Given the description of an element on the screen output the (x, y) to click on. 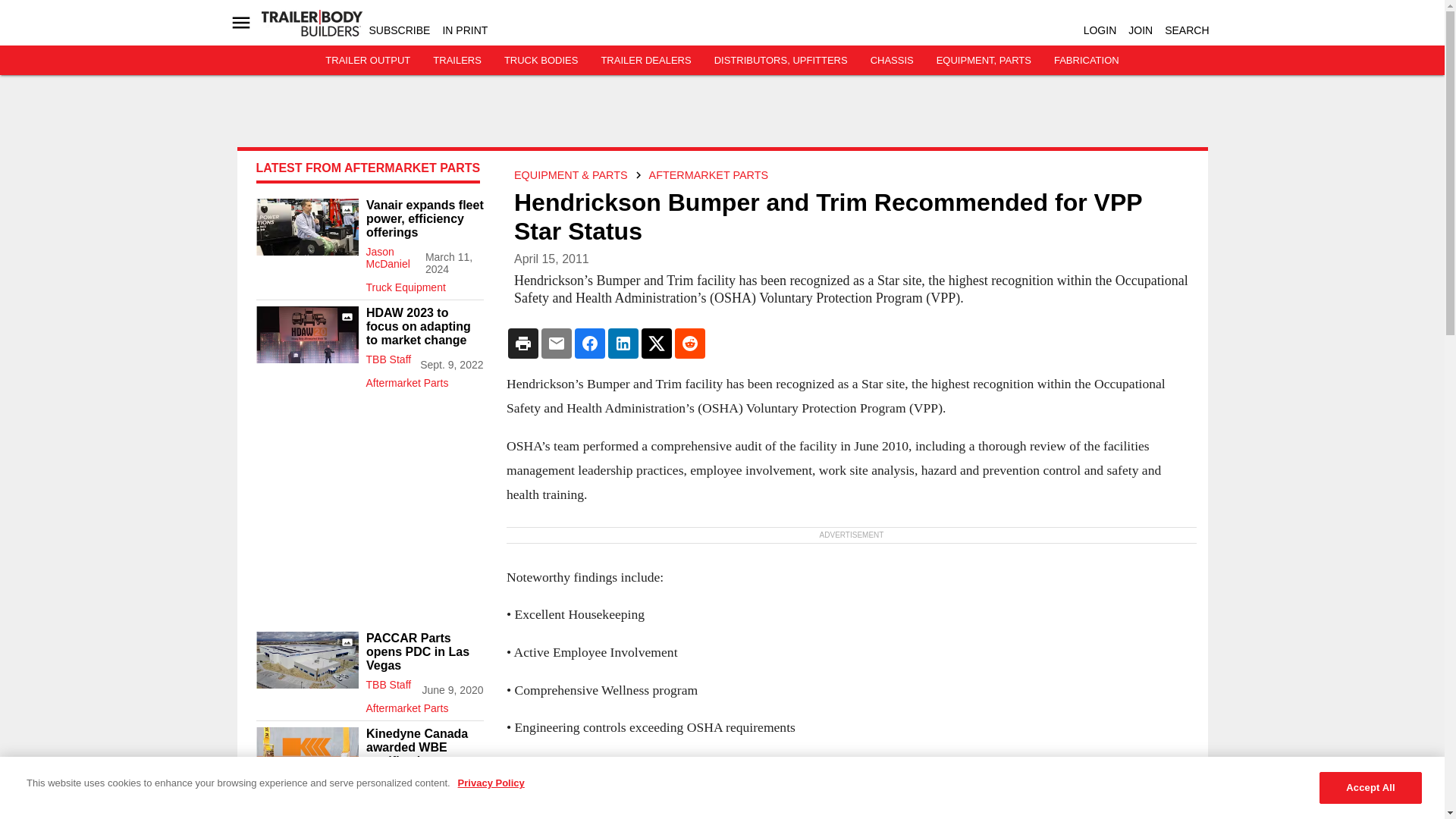
IN PRINT (464, 30)
JOIN (1140, 30)
CHASSIS (892, 60)
TRAILER OUTPUT (367, 60)
SUBSCRIBE (398, 30)
Paccar Parts Pdc Las Vegas (307, 659)
EQUIPMENT, PARTS (983, 60)
Truck Equipment (424, 284)
TRUCK BODIES (540, 60)
TRAILERS (456, 60)
